Given the description of an element on the screen output the (x, y) to click on. 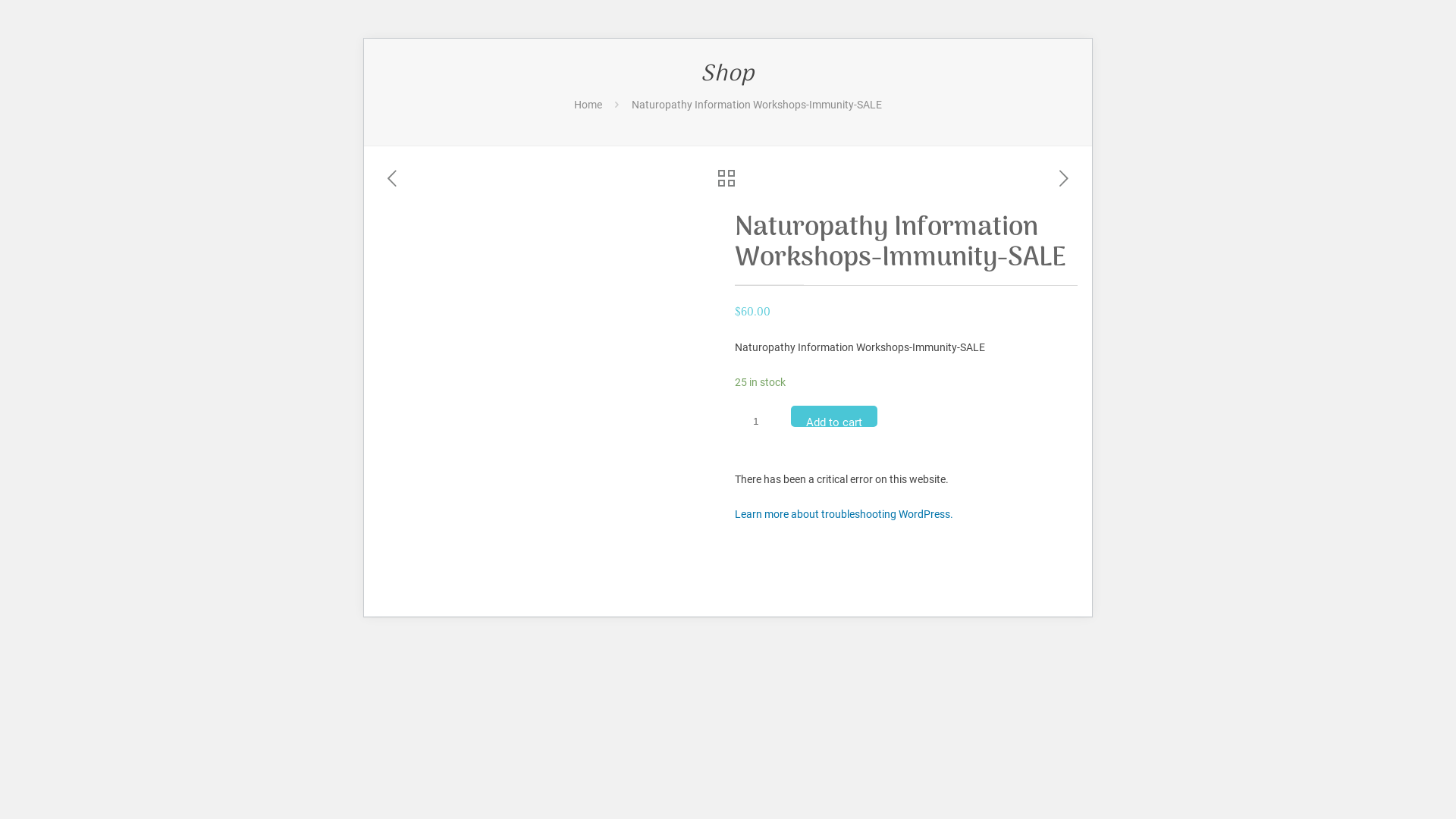
Qty Element type: hover (760, 421)
Home Element type: text (588, 104)
Add to cart Element type: text (833, 415)
Learn more about troubleshooting WordPress. Element type: text (843, 514)
